Given the description of an element on the screen output the (x, y) to click on. 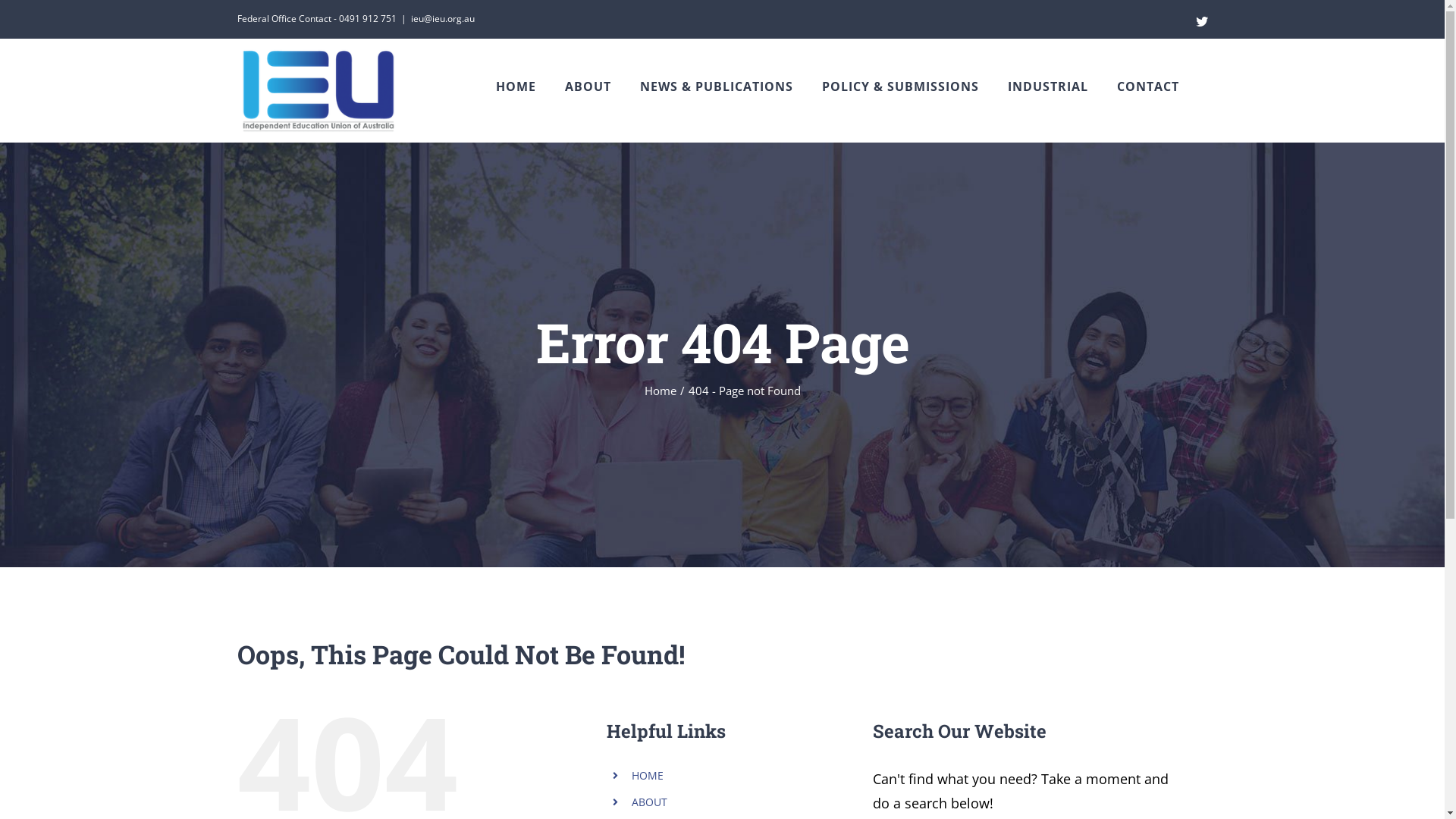
NEWS & PUBLICATIONS Element type: text (716, 86)
POLICY & SUBMISSIONS Element type: text (900, 86)
Twitter Element type: text (1201, 21)
HOME Element type: text (515, 86)
CONTACT Element type: text (1147, 86)
HOME Element type: text (647, 775)
ABOUT Element type: text (649, 801)
Home Element type: text (660, 390)
ABOUT Element type: text (587, 86)
ieu@ieu.org.au Element type: text (442, 18)
INDUSTRIAL Element type: text (1047, 86)
